Given the description of an element on the screen output the (x, y) to click on. 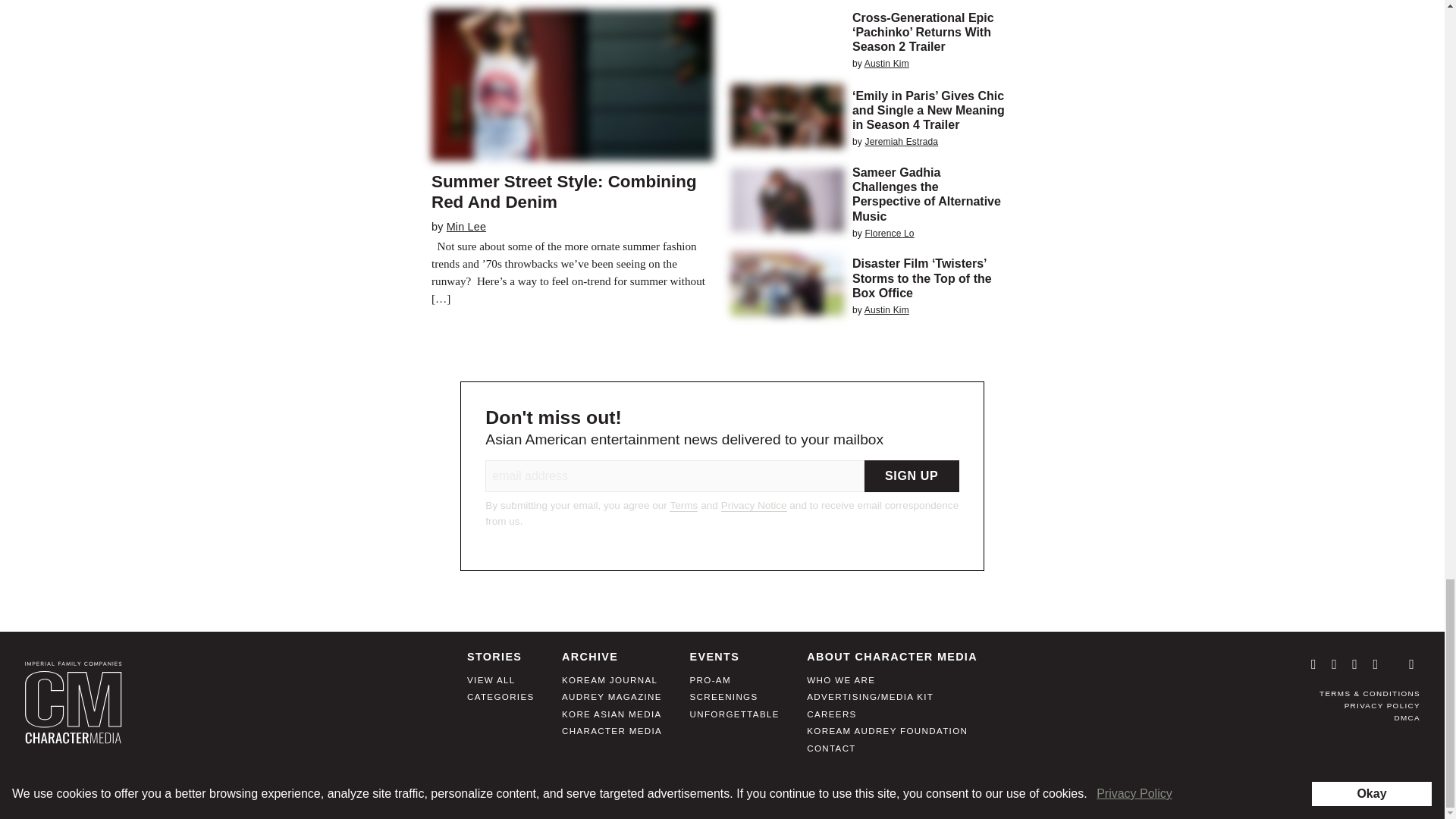
Sign Up (911, 476)
KoreAm Audrey Foundation (887, 736)
